Given the description of an element on the screen output the (x, y) to click on. 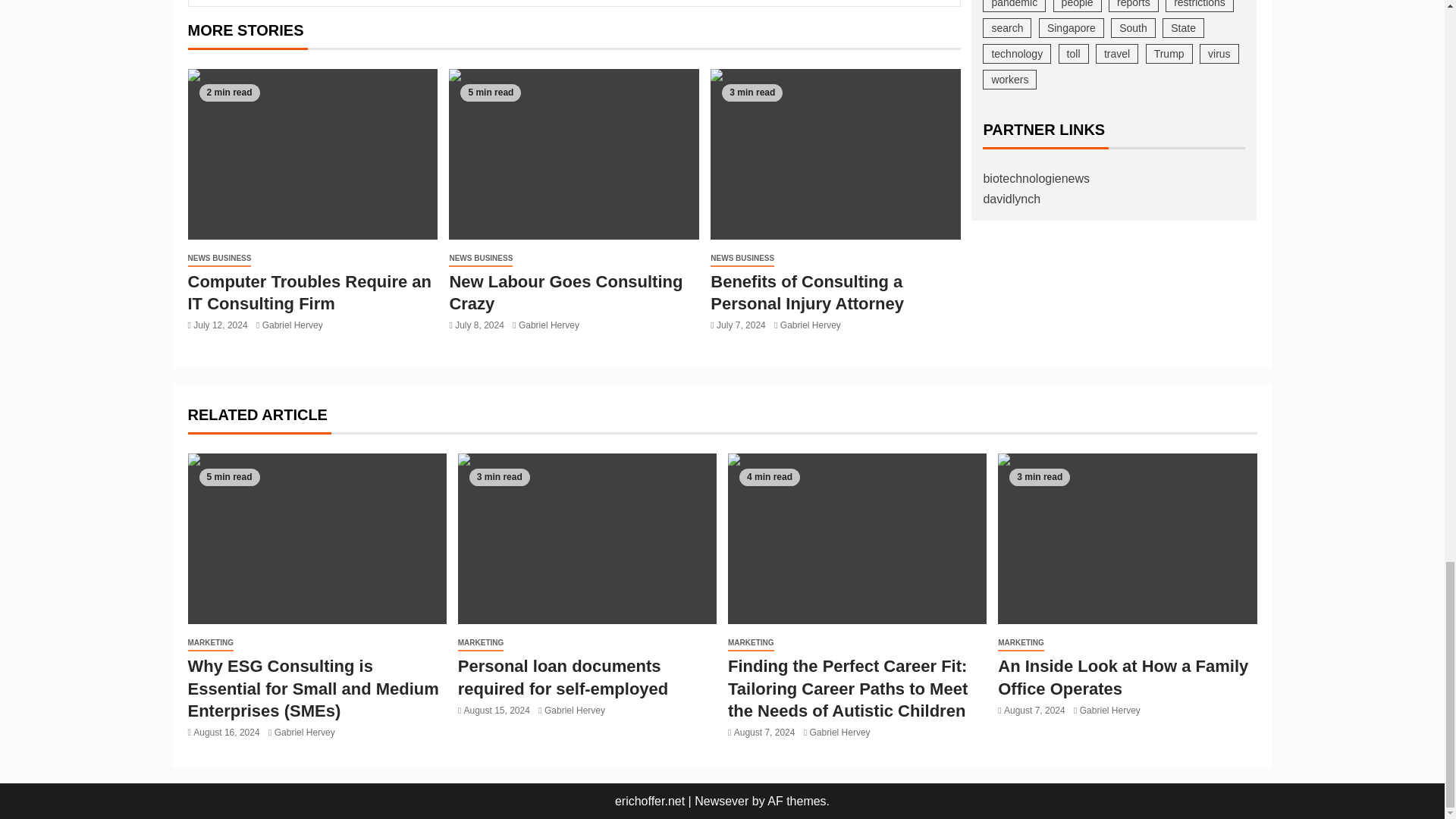
NEWS BUSINESS (219, 258)
New Labour Goes Consulting Crazy (573, 153)
Benefits of Consulting a Personal Injury Attorney (835, 153)
Computer Troubles Require an IT Consulting Firm (312, 153)
Gabriel Hervey (292, 325)
Computer Troubles Require an IT Consulting Firm (309, 291)
